Given the description of an element on the screen output the (x, y) to click on. 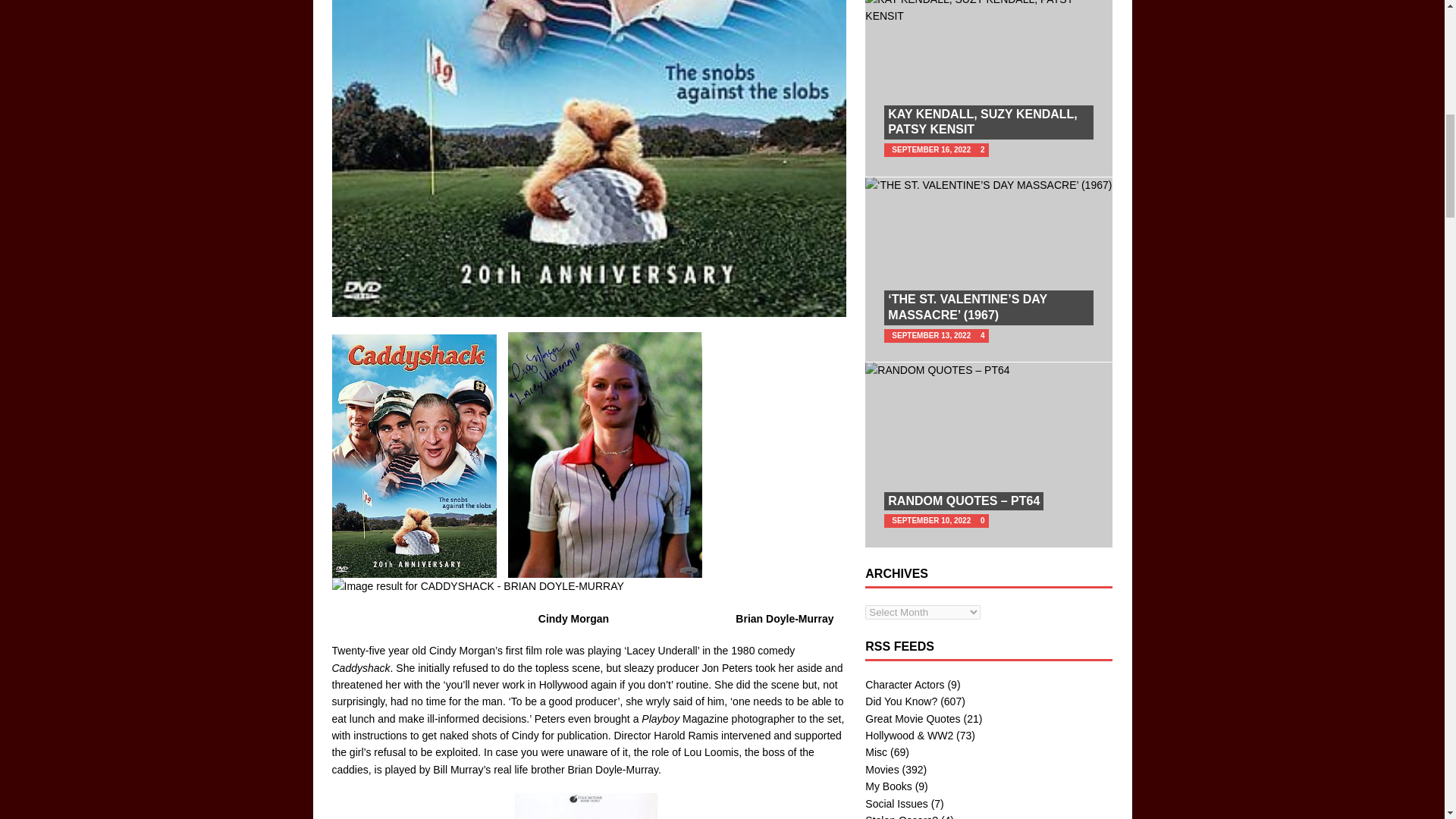
KAY KENDALL, SUZY KENDALL, PATSY KENSIT (982, 121)
KAY KENDALL, SUZY KENDALL, PATSY KENSIT (988, 12)
